Given the description of an element on the screen output the (x, y) to click on. 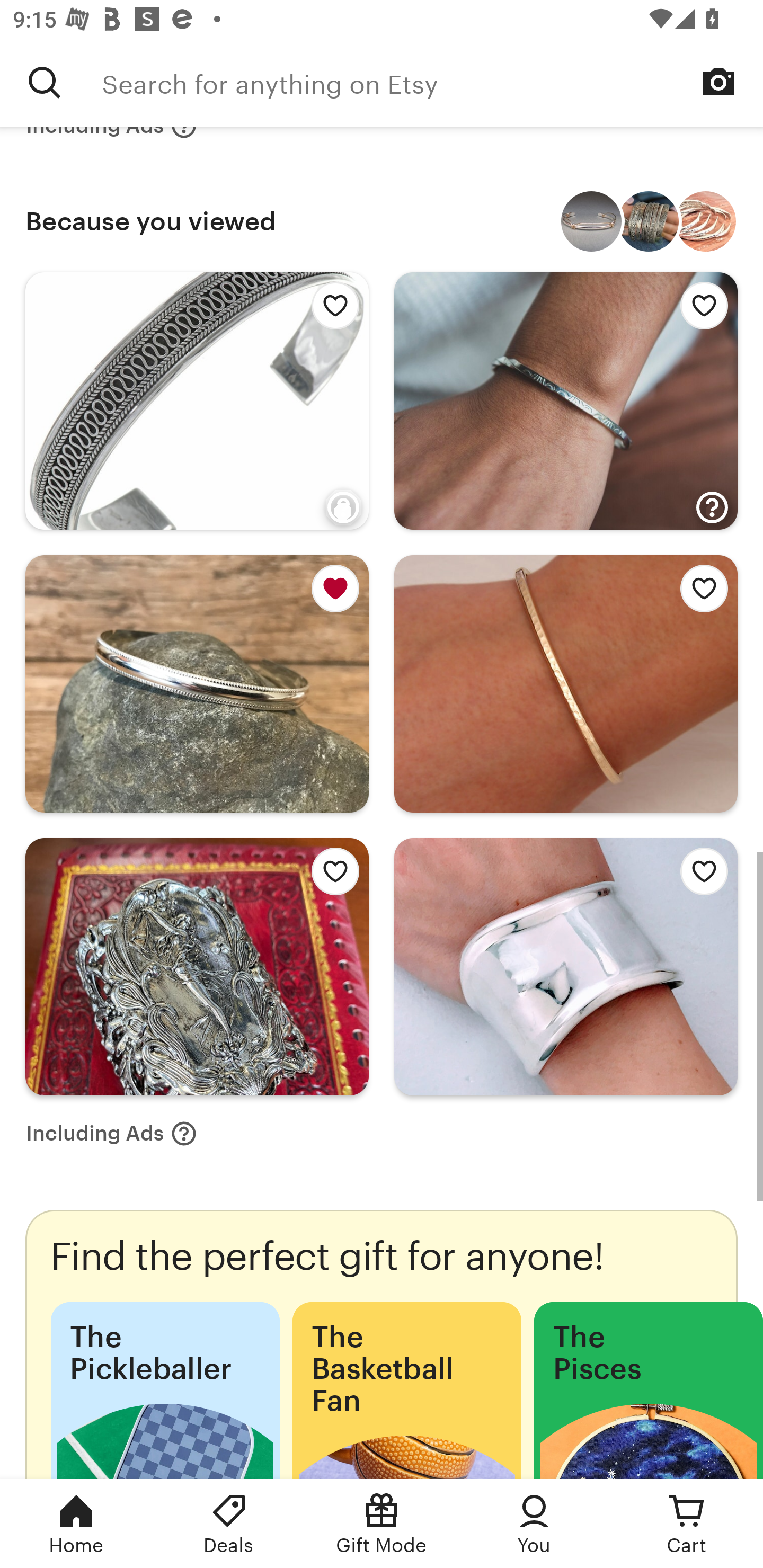
Search for anything on Etsy (44, 82)
Search by image (718, 81)
Search for anything on Etsy (432, 82)
Including Ads (111, 1133)
Find the perfect gift for anyone! (381, 1344)
The Pickleballer (165, 1389)
The Basketball Fan (406, 1389)
The Pisces (648, 1389)
Deals (228, 1523)
Gift Mode (381, 1523)
You (533, 1523)
Cart (686, 1523)
